Given the description of an element on the screen output the (x, y) to click on. 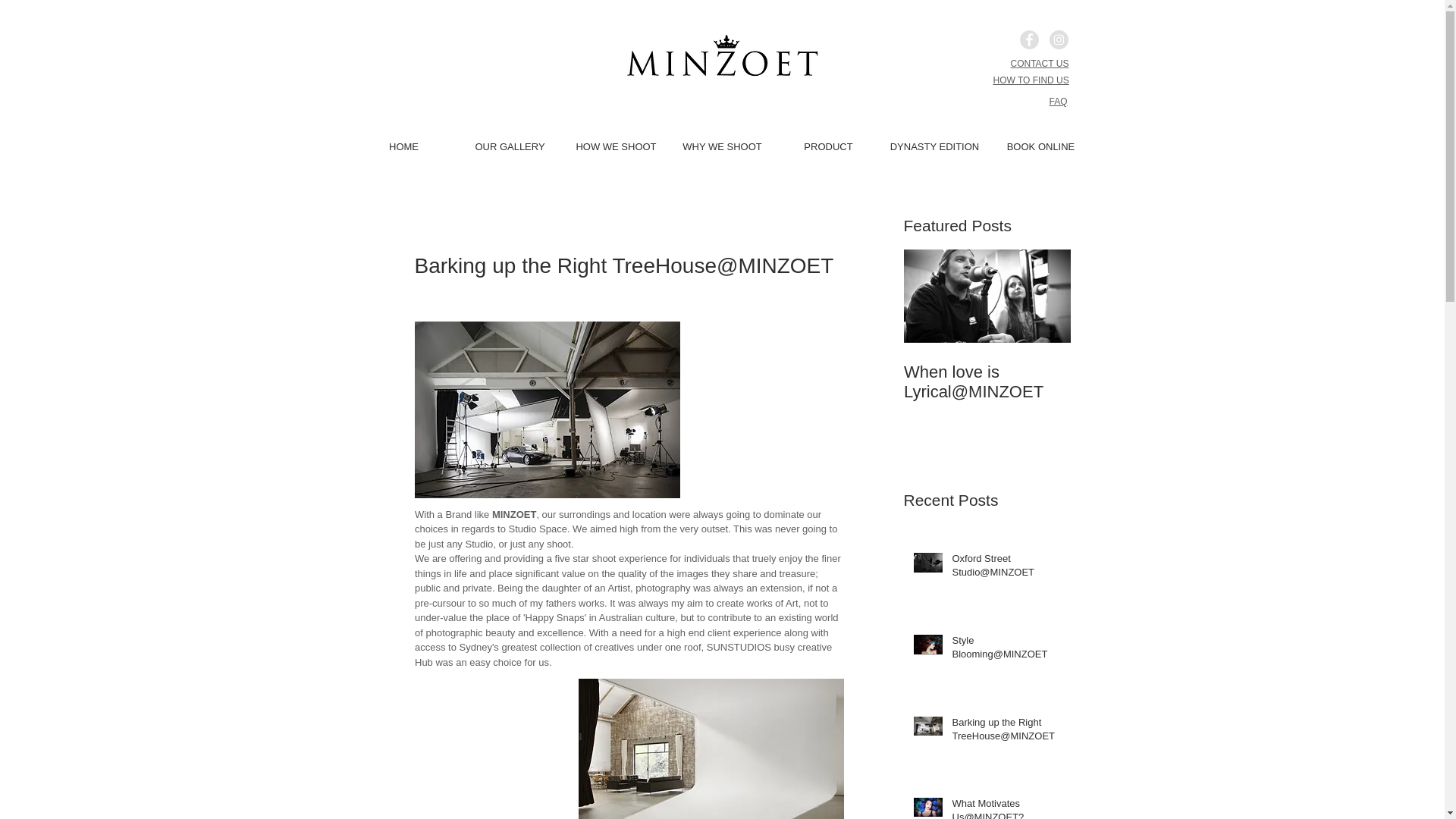
BOOK ONLINE (1040, 146)
WHY WE SHOOT (721, 146)
HOW TO FIND US (1030, 80)
DYNASTY EDITION (934, 146)
HOME (403, 146)
CONTACT US (1039, 63)
HOW WE SHOOT (616, 146)
OUR GALLERY (510, 146)
PRODUCT (827, 146)
FAQ (1057, 101)
